Given the description of an element on the screen output the (x, y) to click on. 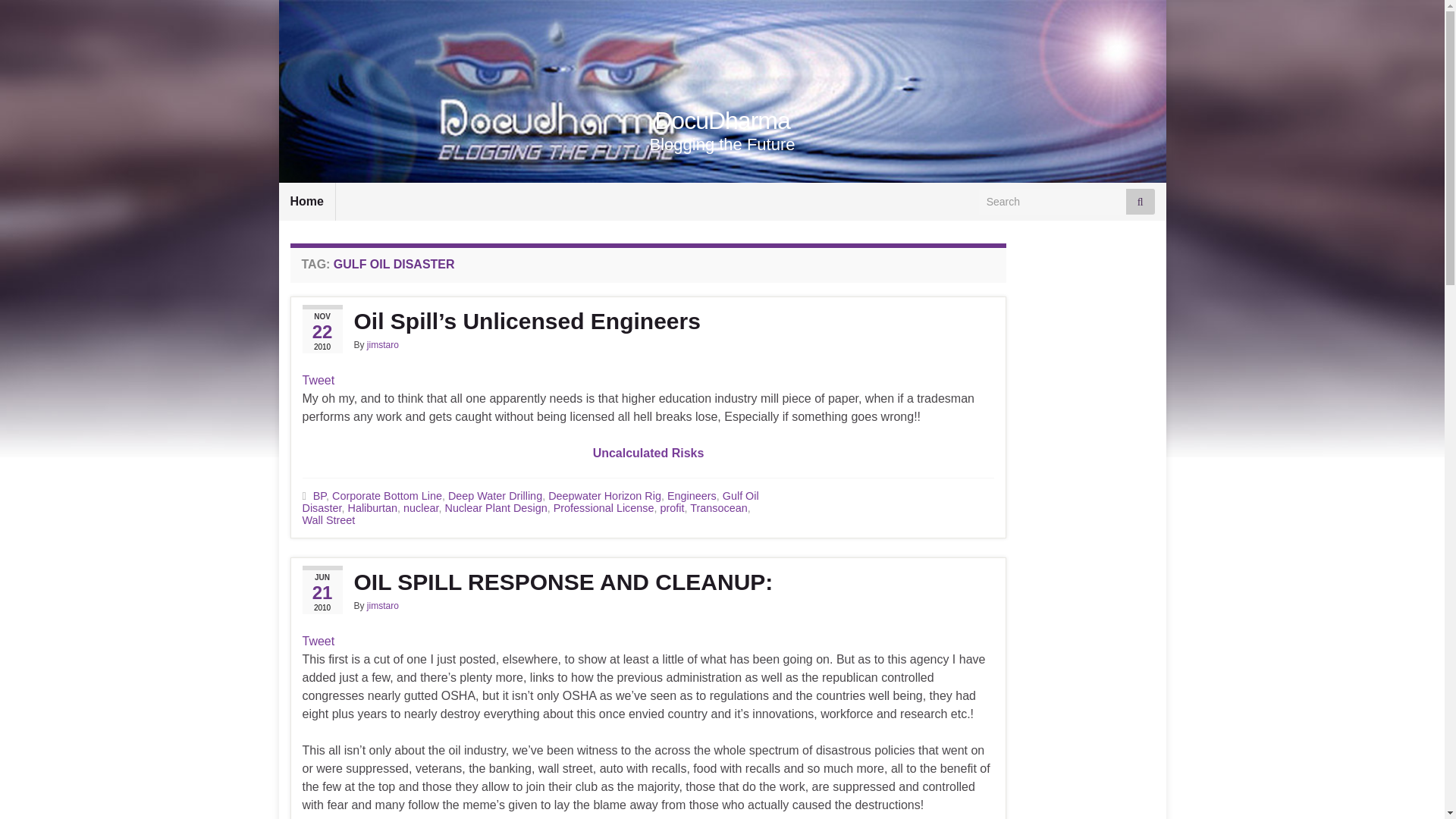
Go back to the front page (721, 120)
BP (319, 495)
Nuclear Plant Design (495, 508)
Gulf Oil Disaster (529, 501)
OIL SPILL RESPONSE AND CLEANUP: (647, 582)
jimstaro (382, 605)
nuclear (420, 508)
jimstaro (382, 344)
Deep Water Drilling (494, 495)
Deepwater Horizon Rig (604, 495)
Engineers (691, 495)
Tweet (317, 640)
DocuDharma (721, 120)
Tweet (317, 379)
Haliburtan (372, 508)
